Given the description of an element on the screen output the (x, y) to click on. 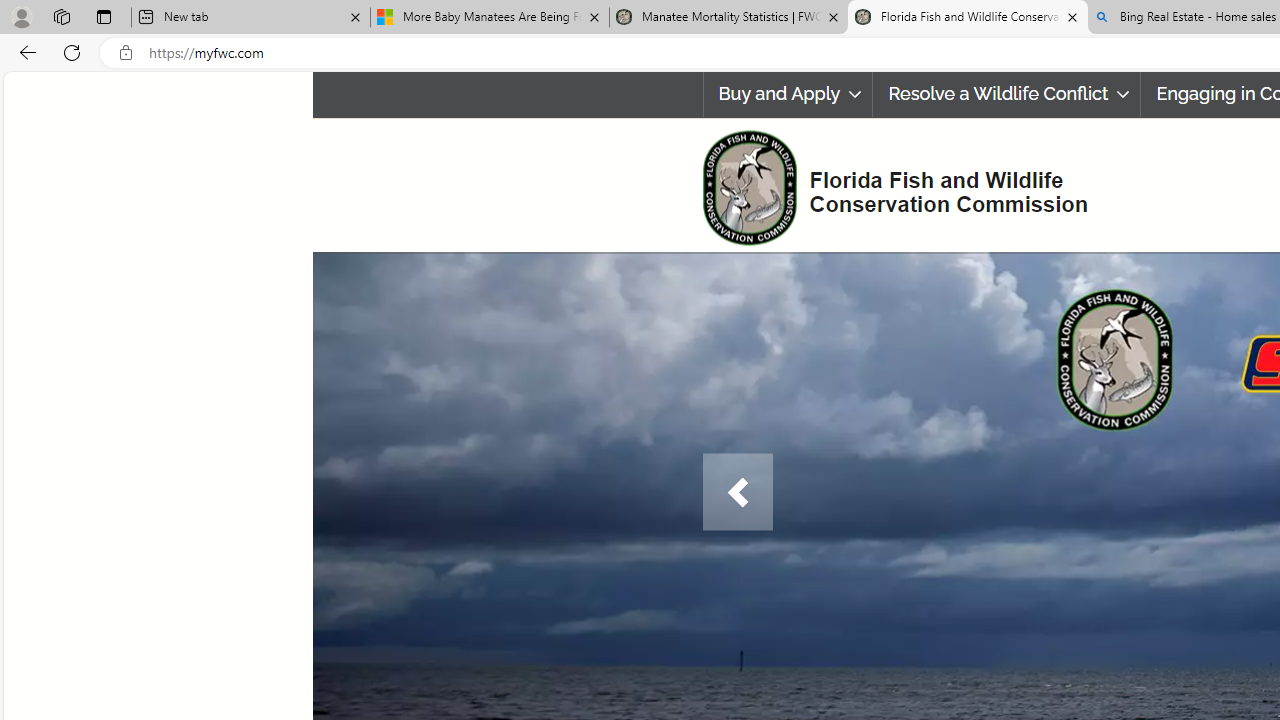
Resolve a Wildlife Conflict (1006, 94)
Buy and Apply (787, 94)
Buy and Apply (787, 94)
Florida Fish and Wildlife Conservation Commission | FWC (967, 17)
Resolve a Wildlife Conflict (1006, 94)
FWC Logo Florida Fish and Wildlife Conservation Commission (886, 185)
FWC Logo (749, 187)
